Given the description of an element on the screen output the (x, y) to click on. 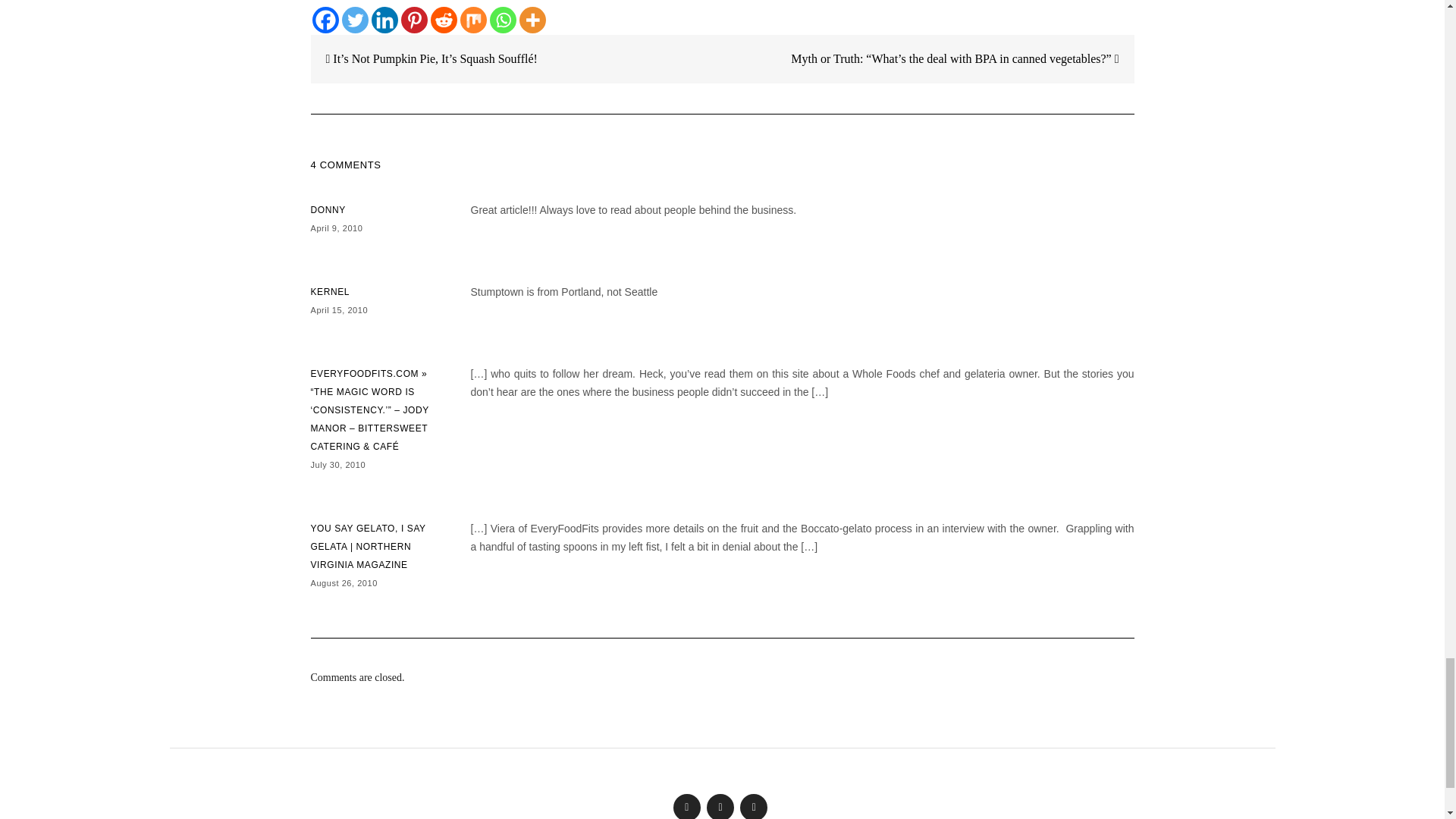
Linkedin (384, 19)
Pinterest (413, 19)
Facebook (326, 19)
Twitter (354, 19)
Mix (473, 19)
Reddit (443, 19)
Whatsapp (502, 19)
More (531, 19)
